Given the description of an element on the screen output the (x, y) to click on. 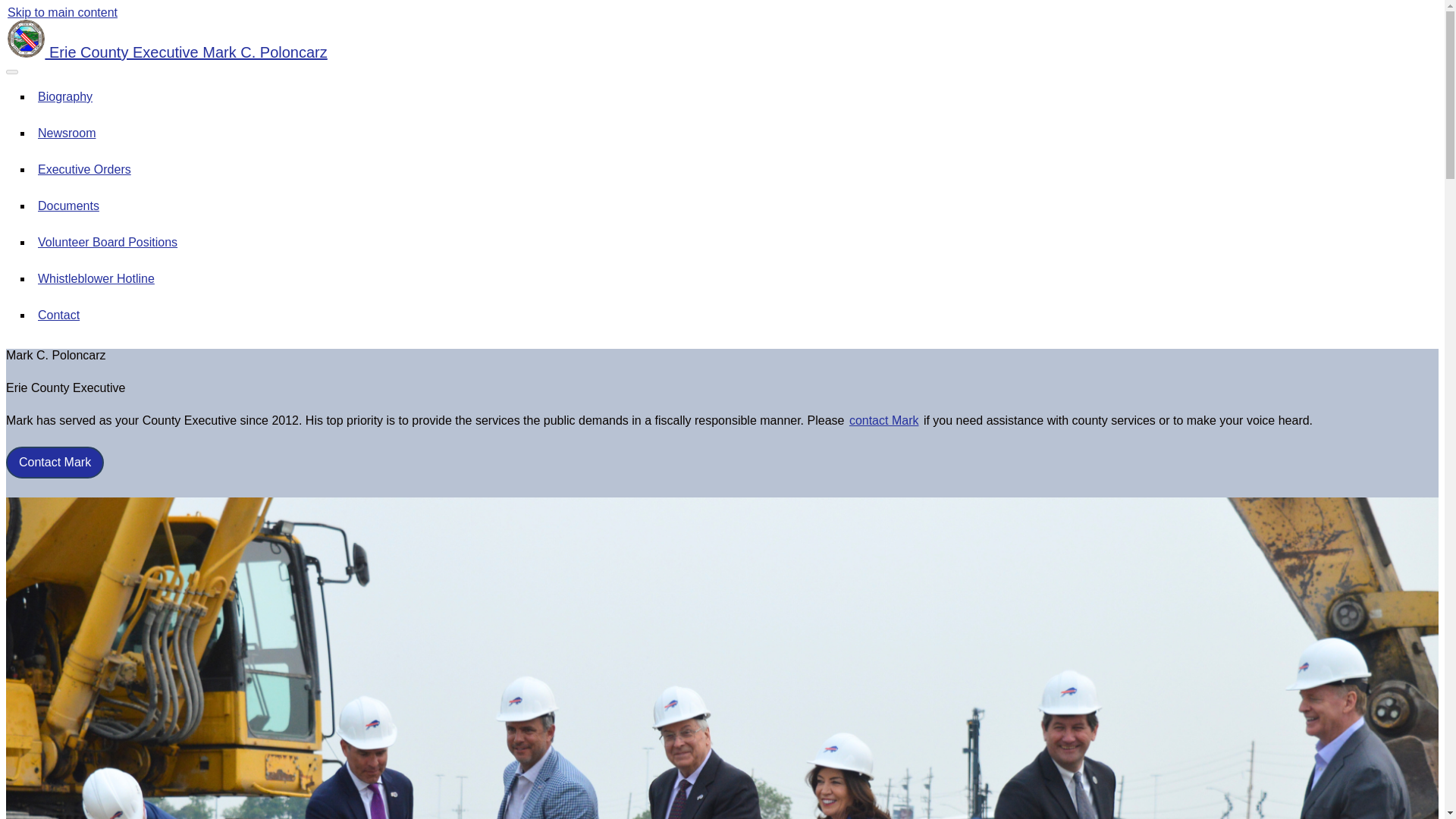
Whistleblower Hotline (95, 278)
Volunteer Board Positions (107, 242)
Erie County Executive Mark C. Poloncarz (167, 52)
Contact (58, 314)
contact Mark (883, 420)
Biography (65, 96)
Newsroom (66, 132)
Executive Orders (84, 169)
Documents (68, 205)
Contact Mark (54, 462)
Home (167, 52)
Skip to main content (62, 12)
